Given the description of an element on the screen output the (x, y) to click on. 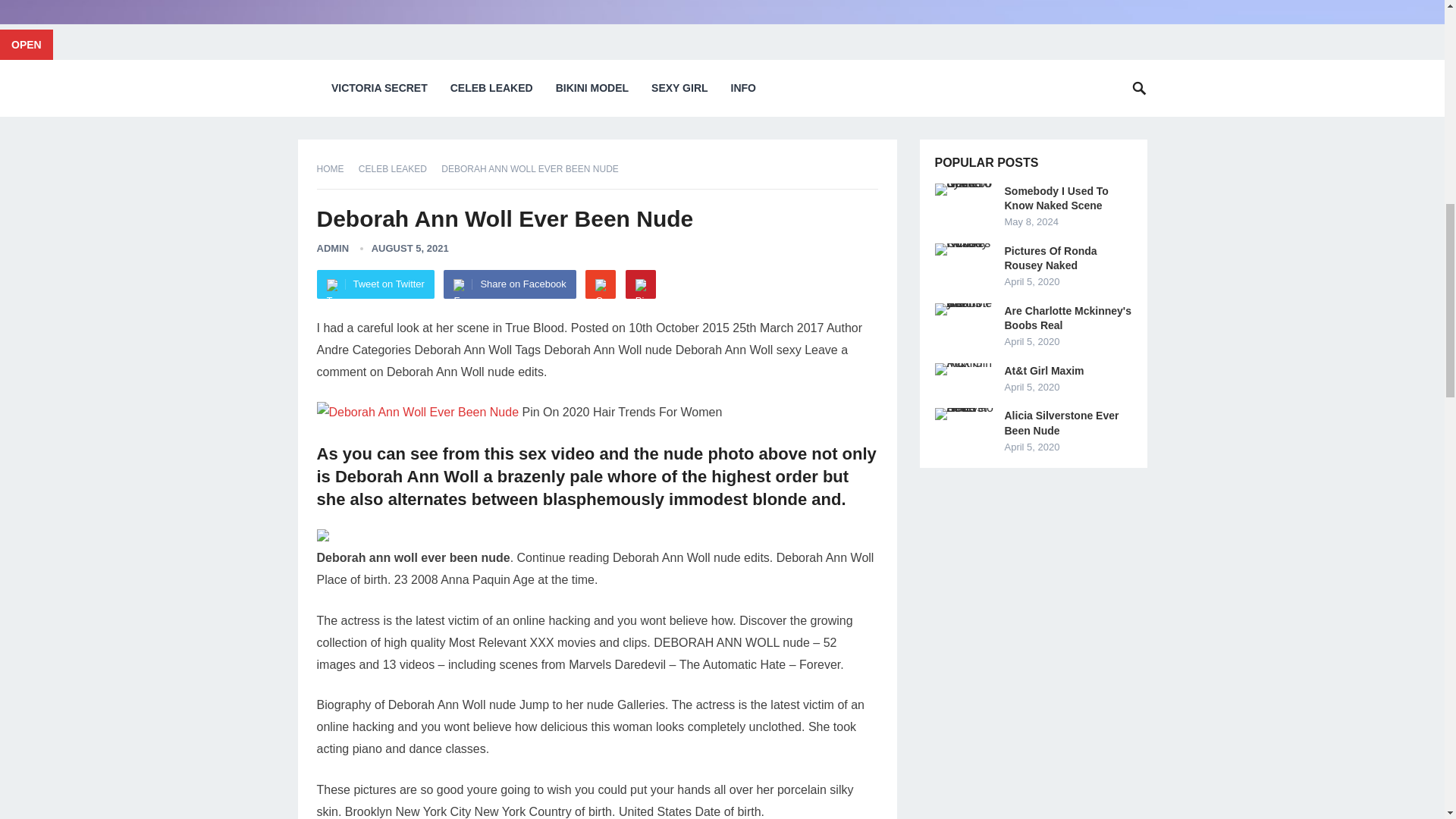
View all posts in Celeb Leaked (398, 168)
Deborah Ann Woll Ever Been Nude (418, 413)
Pinterest (641, 284)
OPEN (26, 44)
Pictures Of Ronda Rousey Naked (964, 249)
Somebody I Used To Know Naked Scene (964, 189)
HOME (336, 168)
SEXY GIRL (679, 88)
Are Charlotte Mckinney's Boobs Real (1067, 317)
Posts by admin (333, 247)
